Given the description of an element on the screen output the (x, y) to click on. 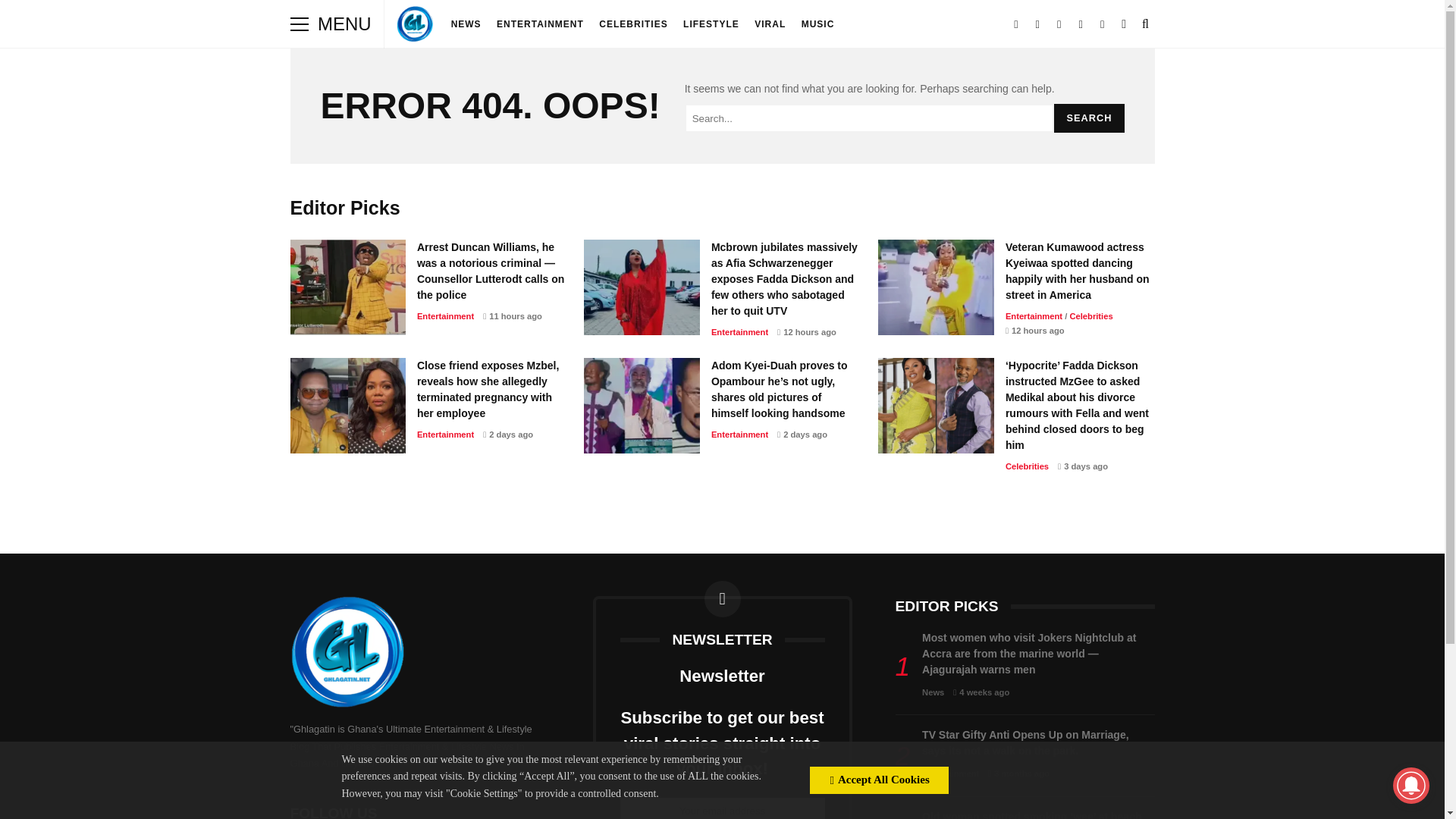
YOUTUBE (1080, 24)
FACEBOOK (1036, 24)
Entertainment (739, 331)
INSTAGRAM (1058, 24)
LIFESTYLE (711, 24)
CELEBRITIES (632, 24)
ENTERTAINMENT (539, 24)
Entertainment (445, 316)
PINTEREST (1102, 24)
TWITTER (1016, 24)
MUSIC (817, 24)
MENU (298, 24)
